Given the description of an element on the screen output the (x, y) to click on. 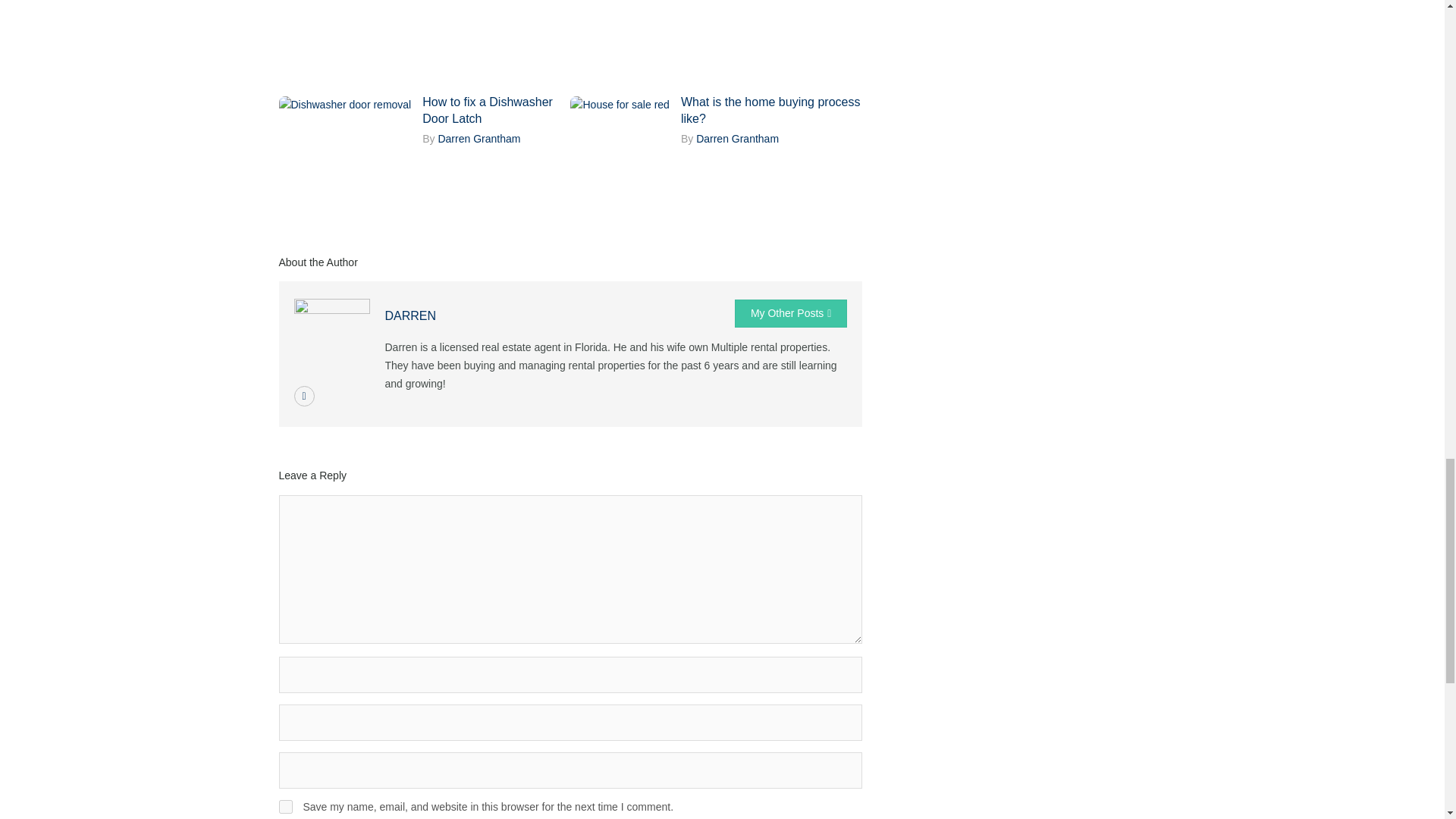
Posts by Darren Grantham (736, 138)
Posts by Darren Grantham (478, 138)
yes (285, 807)
